Given the description of an element on the screen output the (x, y) to click on. 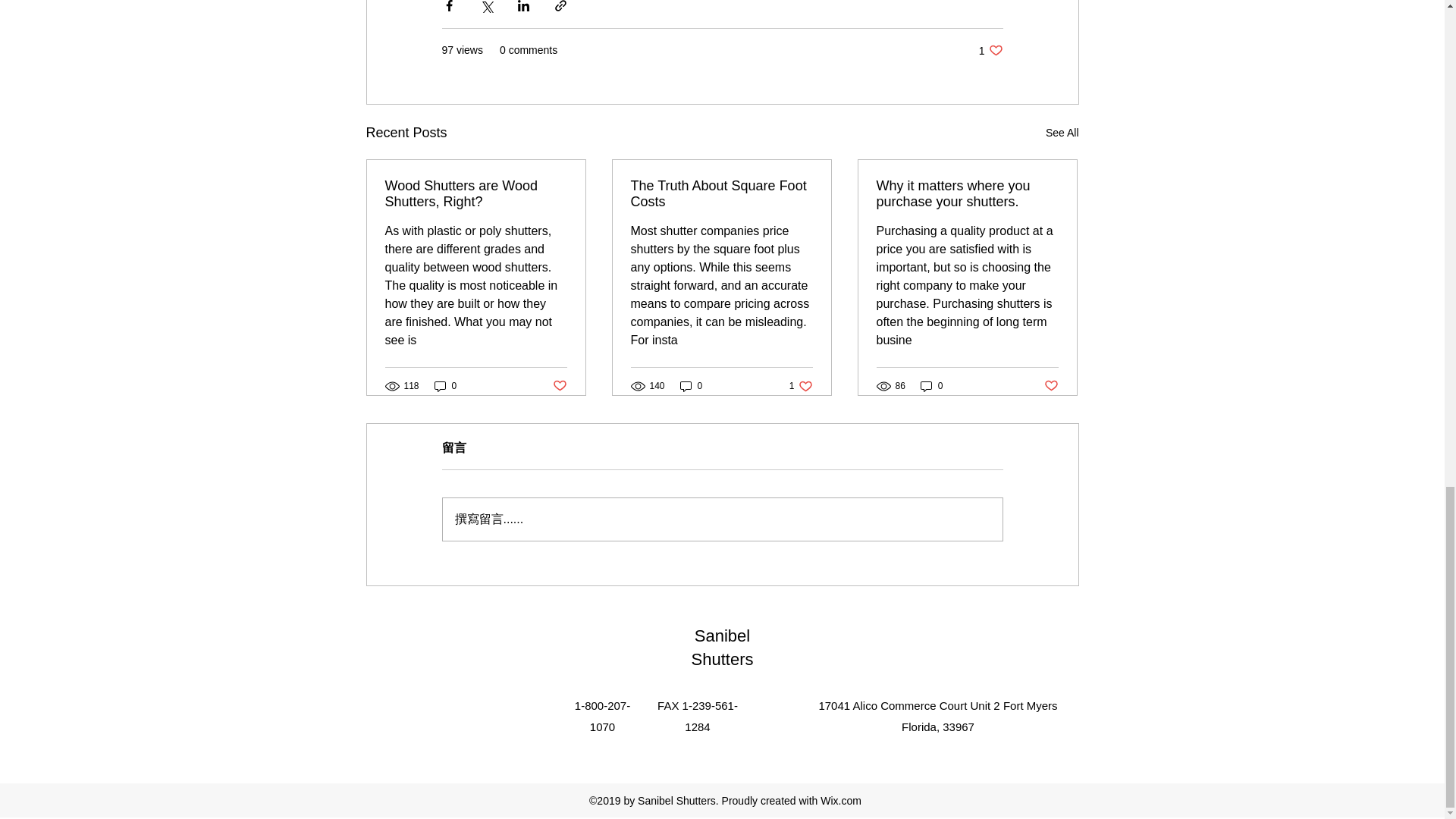
0 (931, 386)
Wood Shutters are Wood Shutters, Right? (476, 193)
Why it matters where you purchase your shutters. (967, 193)
0 (990, 50)
Post not marked as liked (445, 386)
Post not marked as liked (1050, 385)
See All (558, 385)
The Truth About Square Foot Costs (1061, 133)
0 (721, 193)
